Given the description of an element on the screen output the (x, y) to click on. 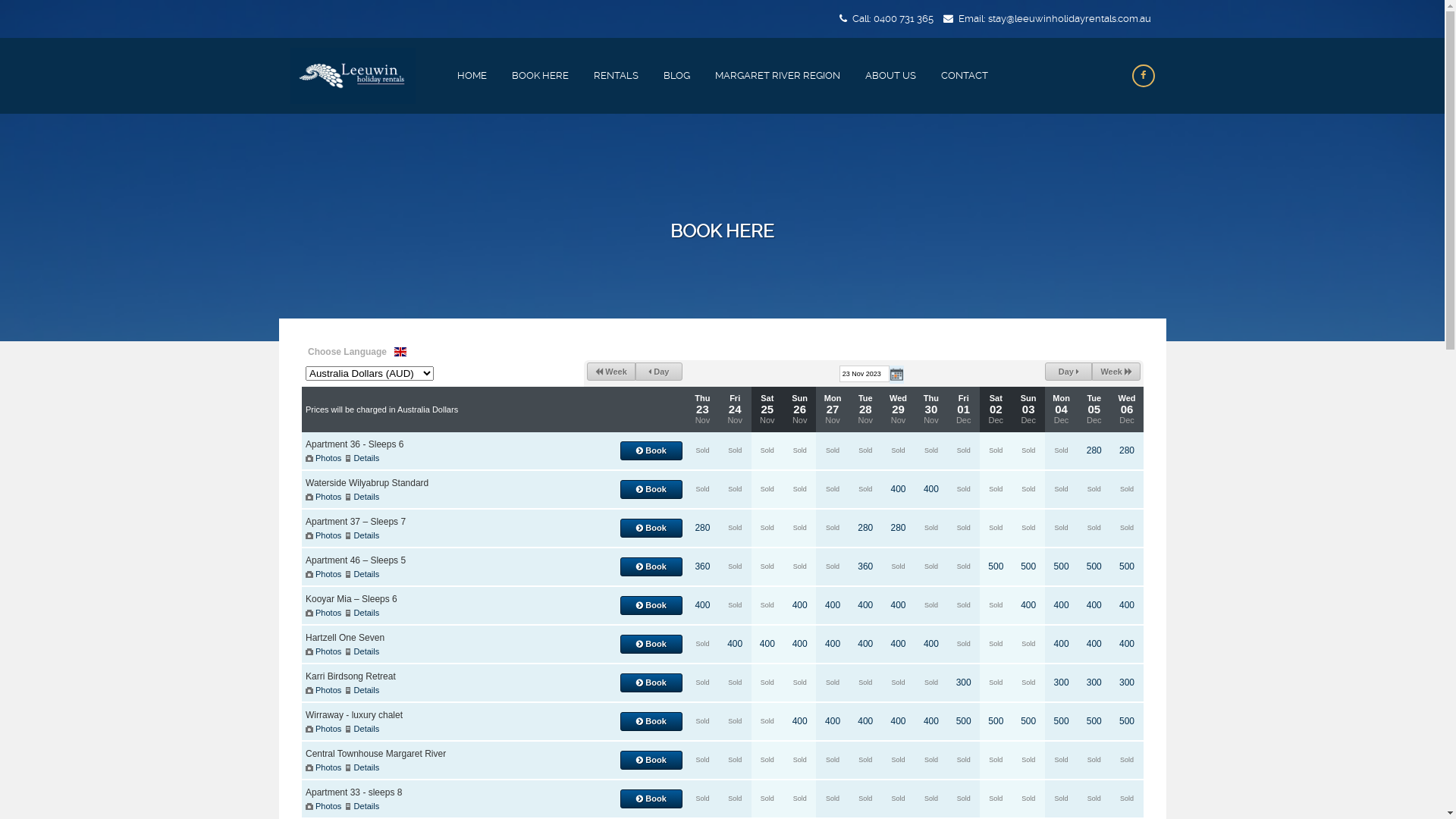
HOME Element type: text (471, 75)
BLOG Element type: text (676, 75)
0400 731 365 Element type: text (903, 18)
BOOK HERE Element type: text (540, 75)
stay@leeuwinholidayrentals.com.au Element type: text (1068, 18)
ABOUT US Element type: text (890, 75)
MARGARET RIVER REGION Element type: text (777, 75)
RENTALS Element type: text (615, 75)
CONTACT Element type: text (964, 75)
